Given the description of an element on the screen output the (x, y) to click on. 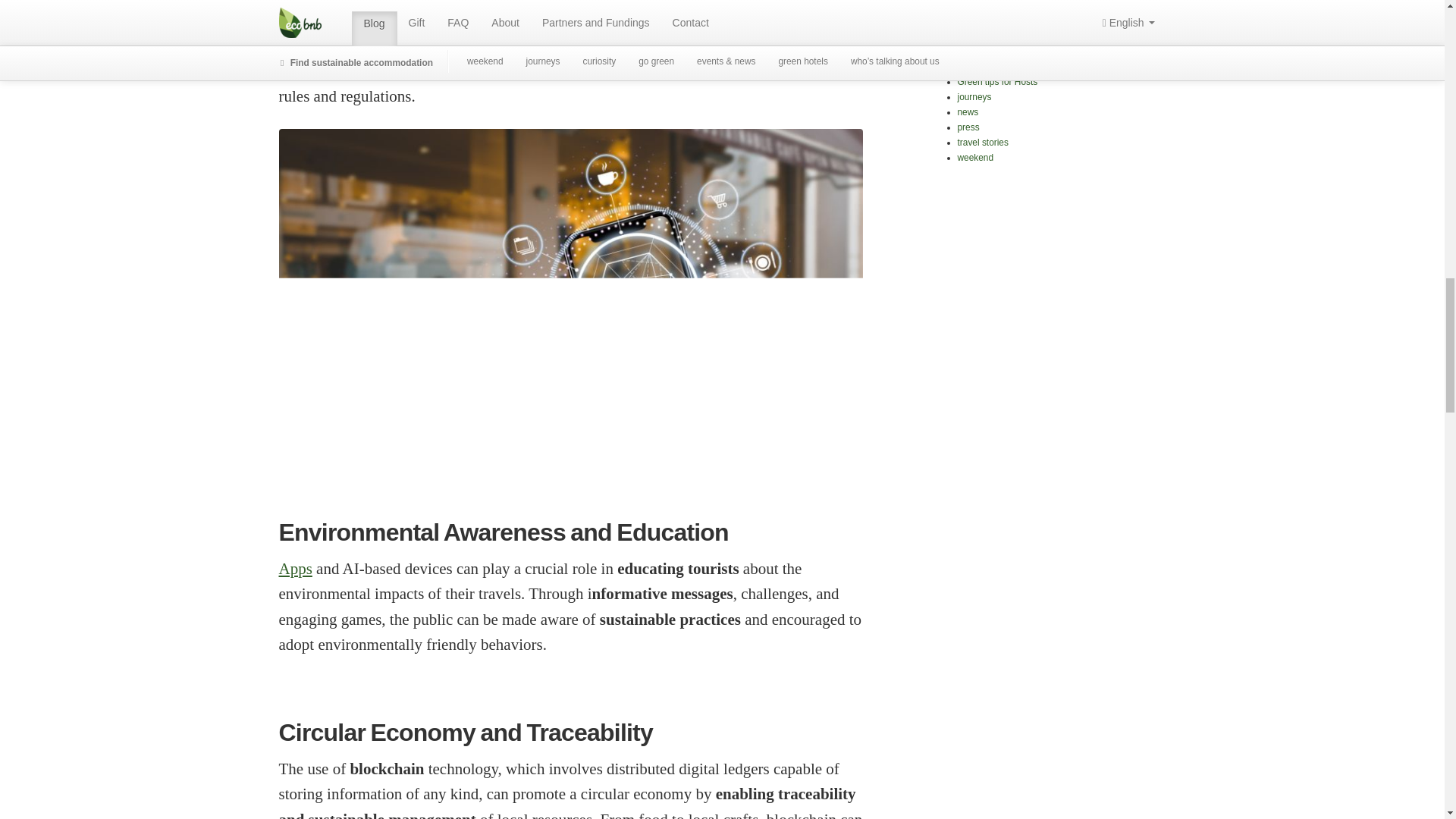
responsible behaviors (553, 45)
Apps (296, 568)
